Given the description of an element on the screen output the (x, y) to click on. 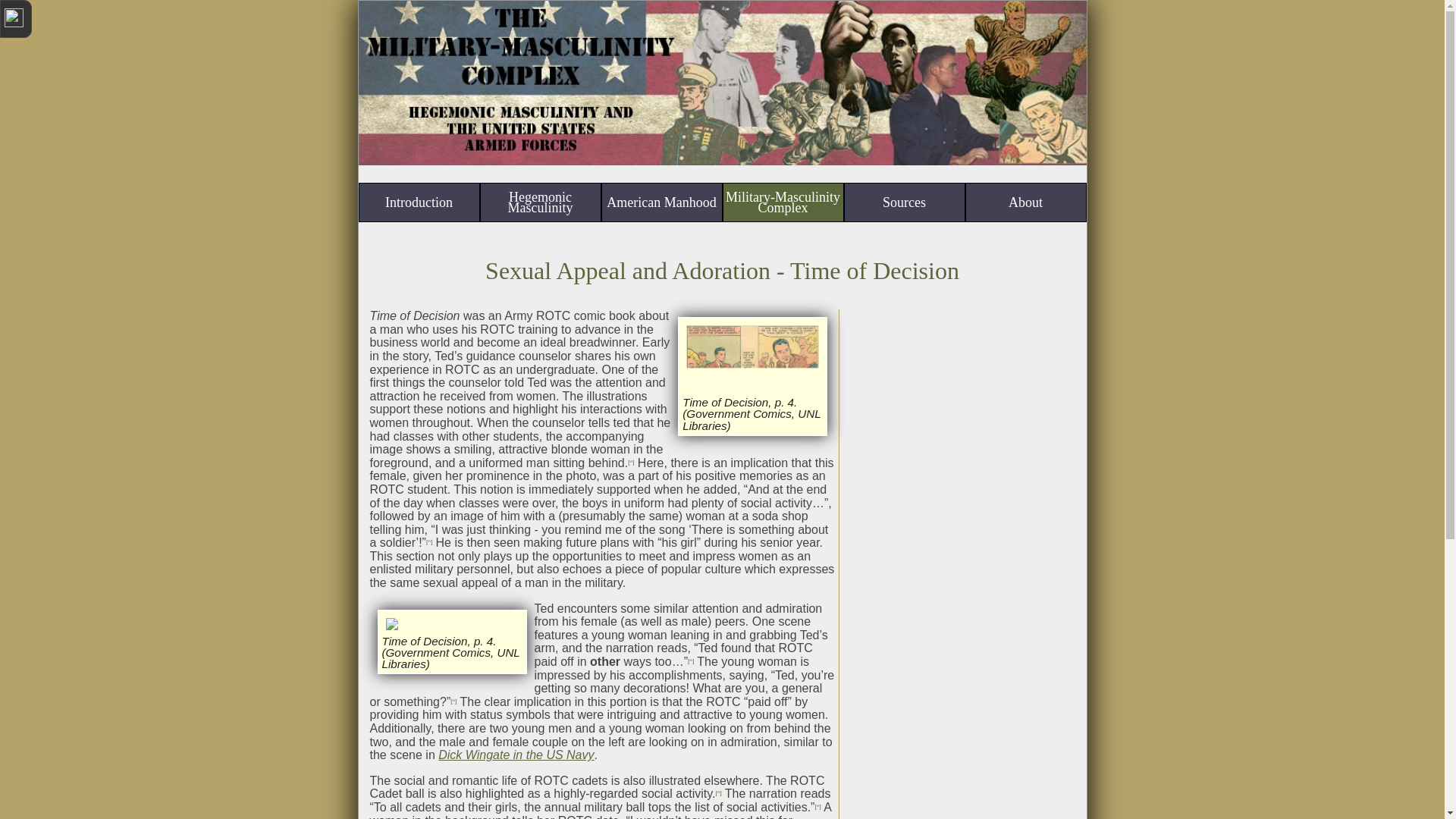
American Manhood (662, 202)
Sources (903, 202)
Introduction (419, 202)
Dick Wingate in the US Navy (516, 754)
Military-Masculinity Complex (783, 202)
Sexual Appeal and Adoration (627, 270)
Hegemonic Masculinity (539, 202)
About (1026, 202)
